Given the description of an element on the screen output the (x, y) to click on. 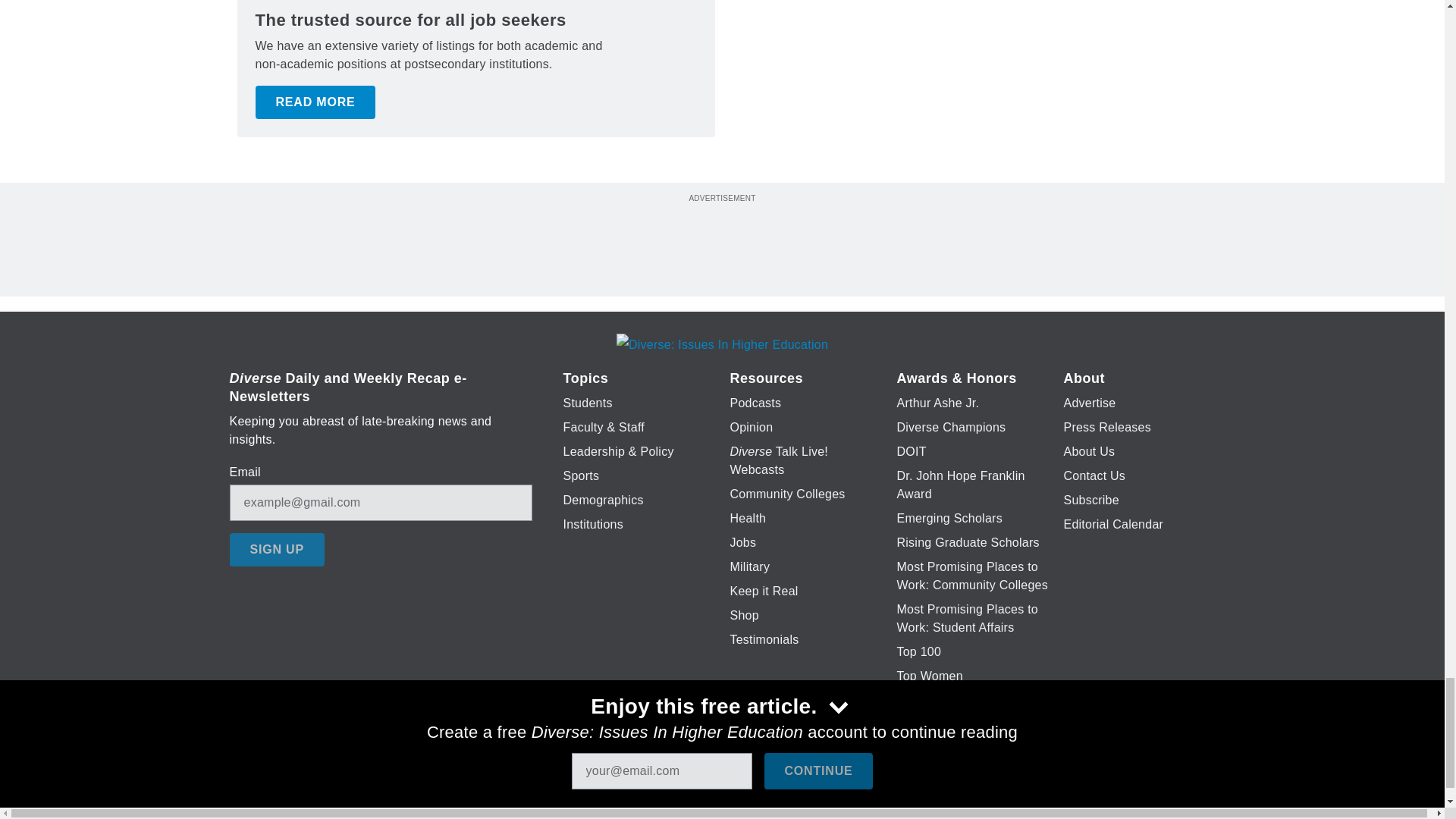
Twitter X icon (674, 773)
LinkedIn icon (718, 773)
Instagram icon (796, 773)
Facebook icon (635, 773)
YouTube icon (757, 773)
